Given the description of an element on the screen output the (x, y) to click on. 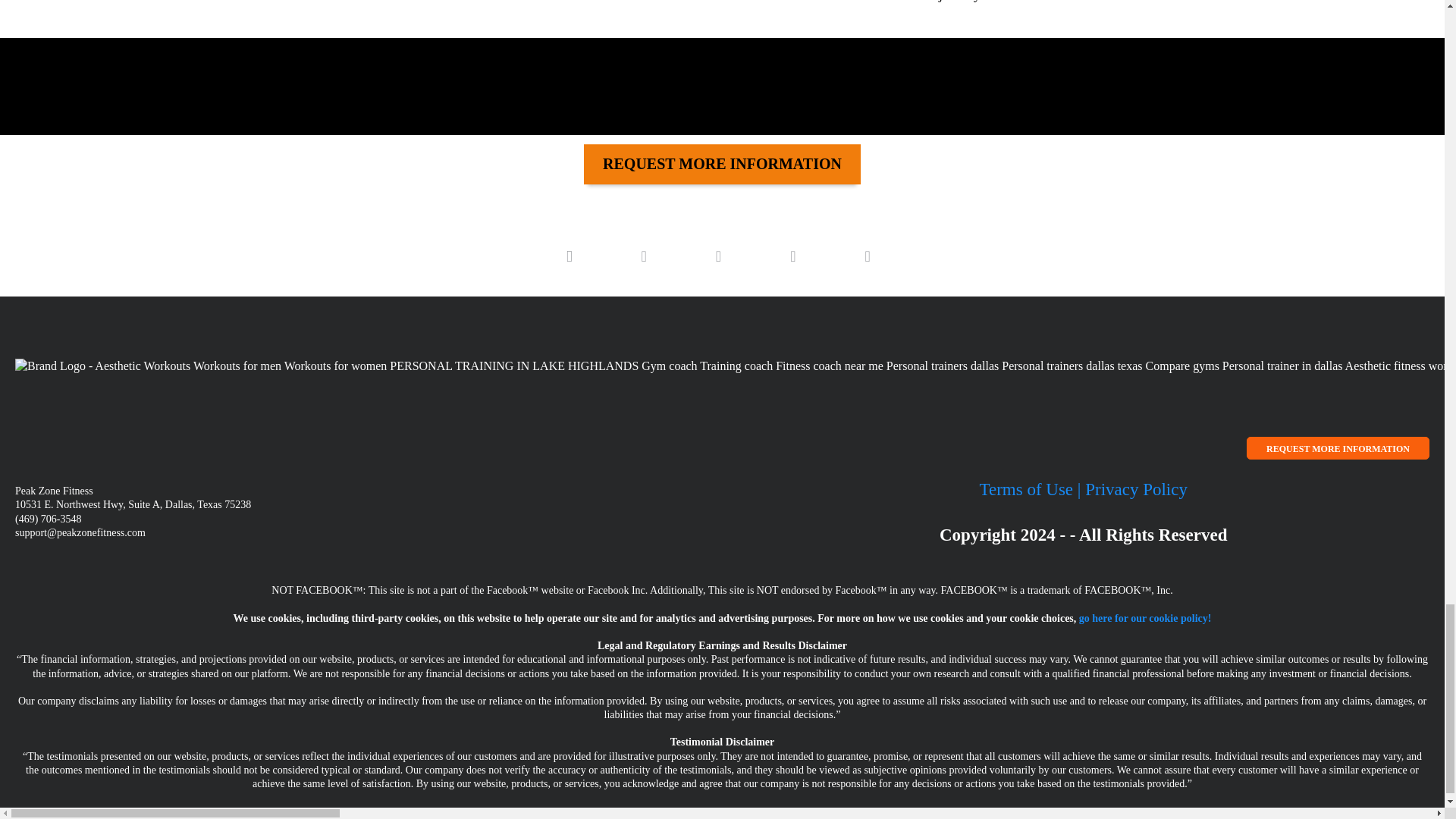
REQUEST MORE INFORMATION (721, 173)
